Given the description of an element on the screen output the (x, y) to click on. 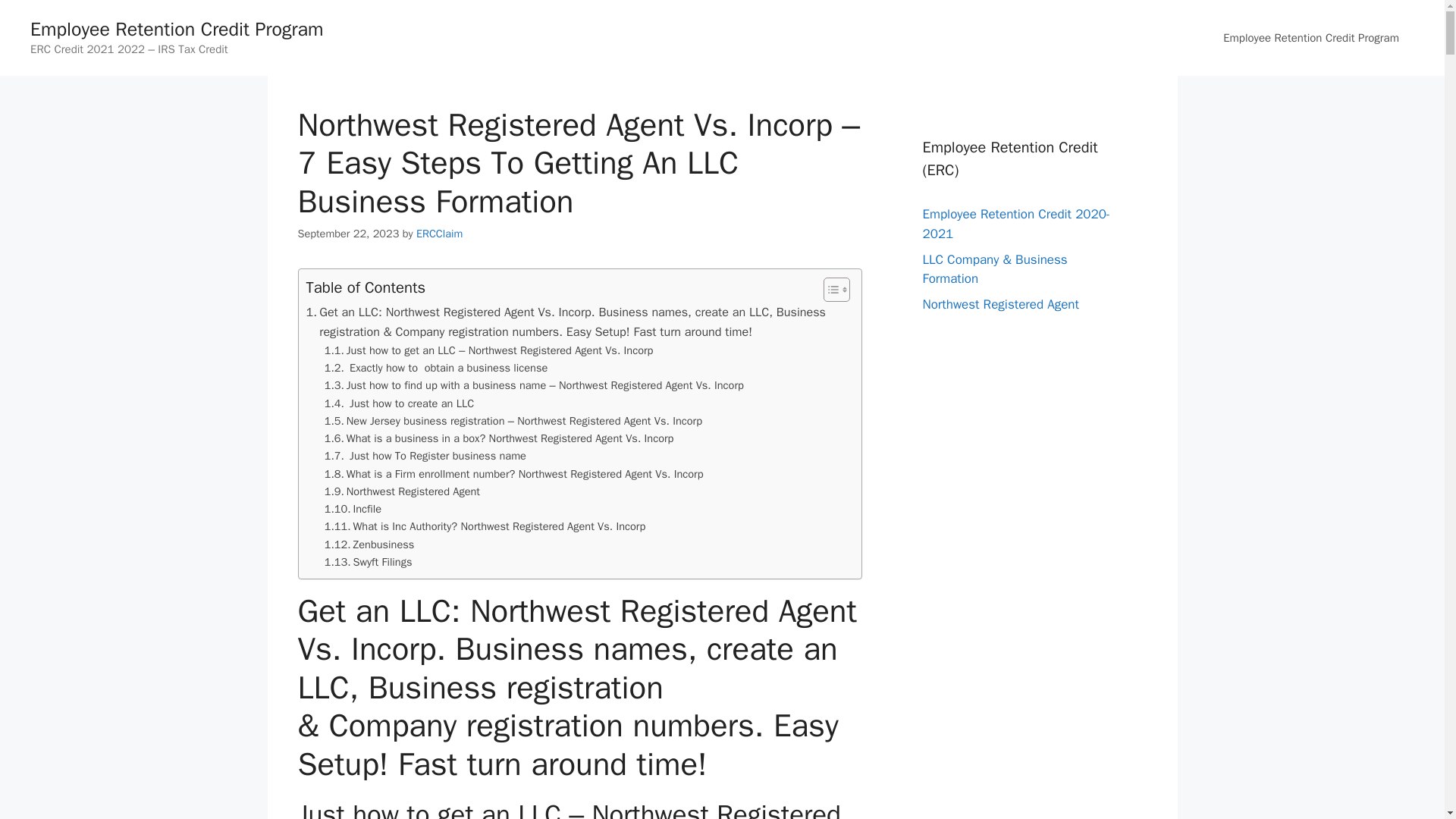
What is Inc Authority? Northwest Registered Agent Vs. Incorp (485, 526)
 Exactly how to  obtain a business license (436, 367)
Incfile (352, 508)
Swyft Filings (368, 561)
Employee Retention Credit Program (1310, 37)
What is Inc Authority? Northwest Registered Agent Vs. Incorp (485, 526)
View all posts by ERCClaim (439, 233)
 Just how To Register business name (424, 456)
Zenbusiness (369, 543)
ERCClaim (439, 233)
